Given the description of an element on the screen output the (x, y) to click on. 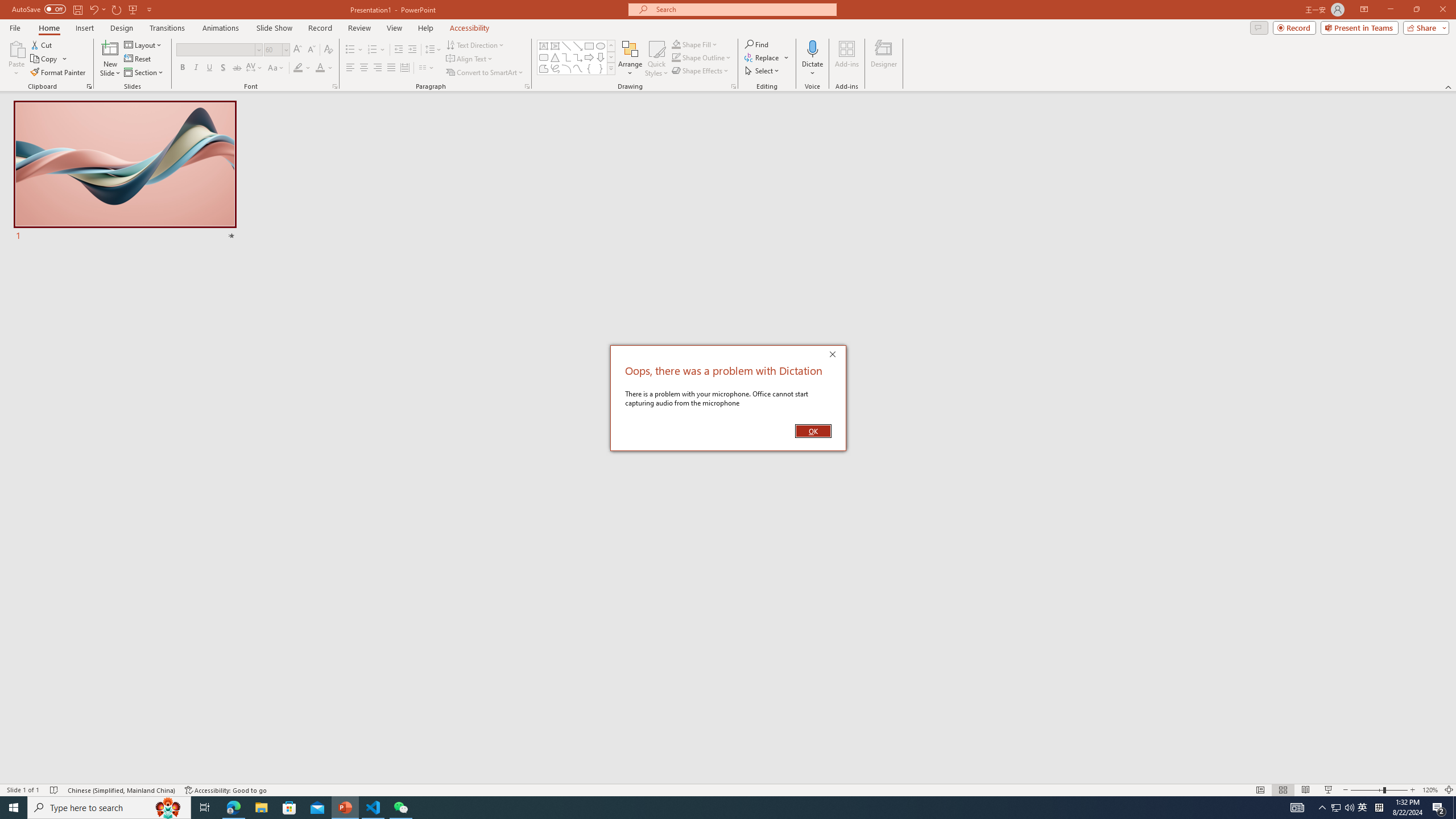
Quick Styles (656, 58)
Align Left (349, 67)
Font Color Red (320, 67)
Accessibility Checker Accessibility: Good to go (226, 790)
Arrange (630, 58)
Zoom 120% (1430, 790)
Character Spacing (254, 67)
Shapes (611, 68)
Shape Outline (701, 56)
Running applications (707, 807)
File Explorer (261, 807)
